Given the description of an element on the screen output the (x, y) to click on. 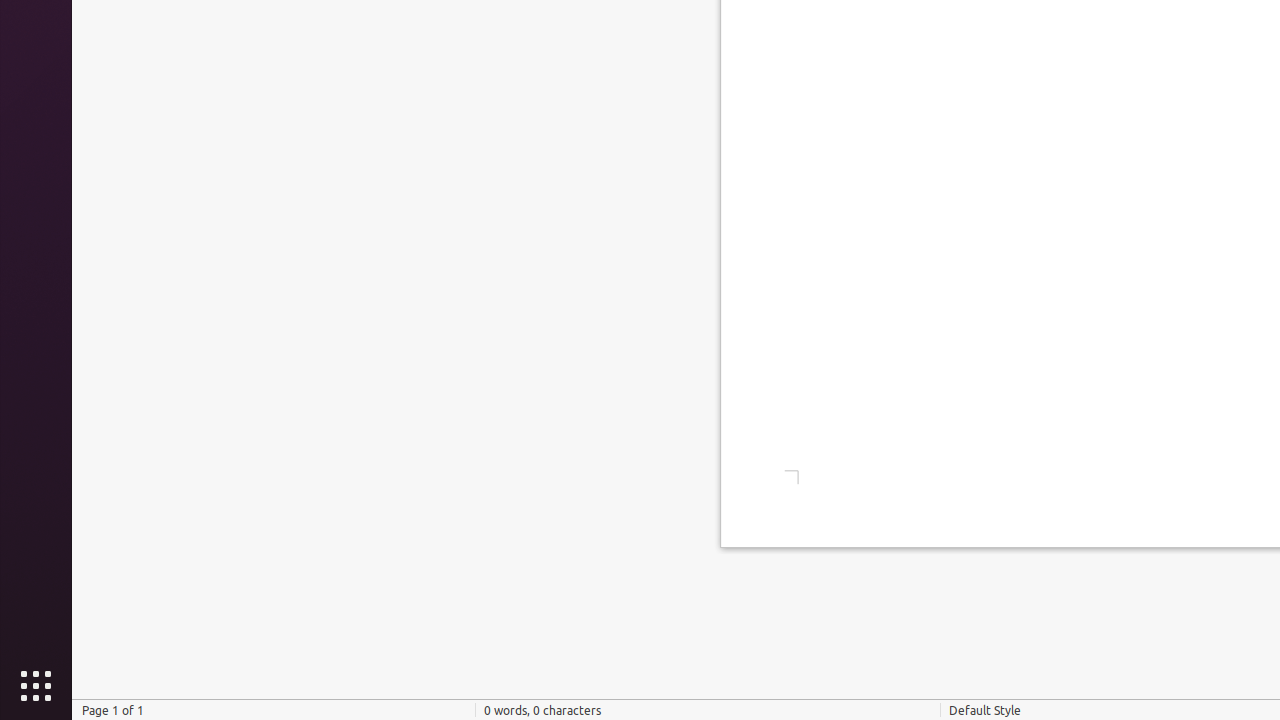
Show Applications Element type: toggle-button (36, 686)
